Given the description of an element on the screen output the (x, y) to click on. 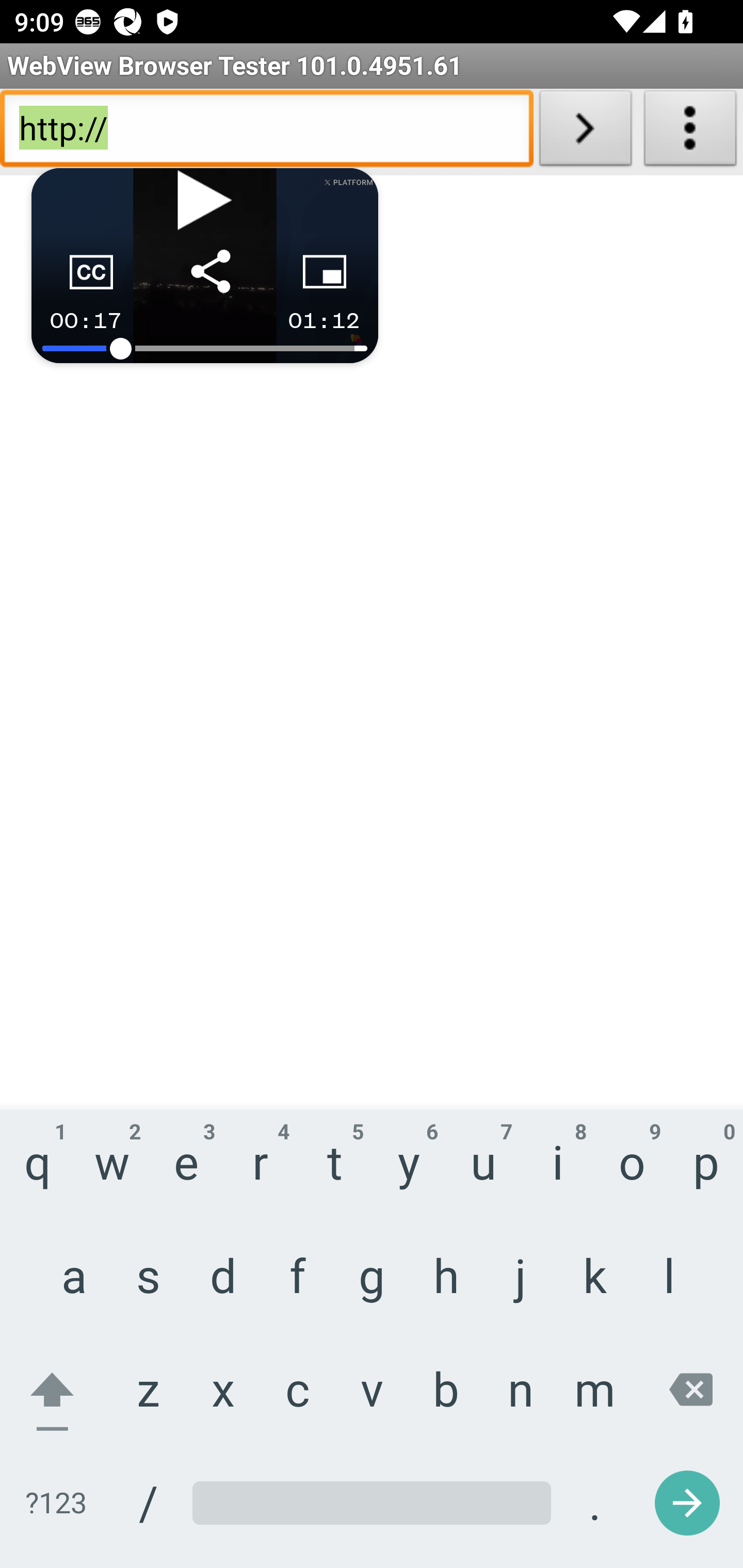
http:// (266, 132)
Load URL (585, 132)
About WebView (690, 132)
